Given the description of an element on the screen output the (x, y) to click on. 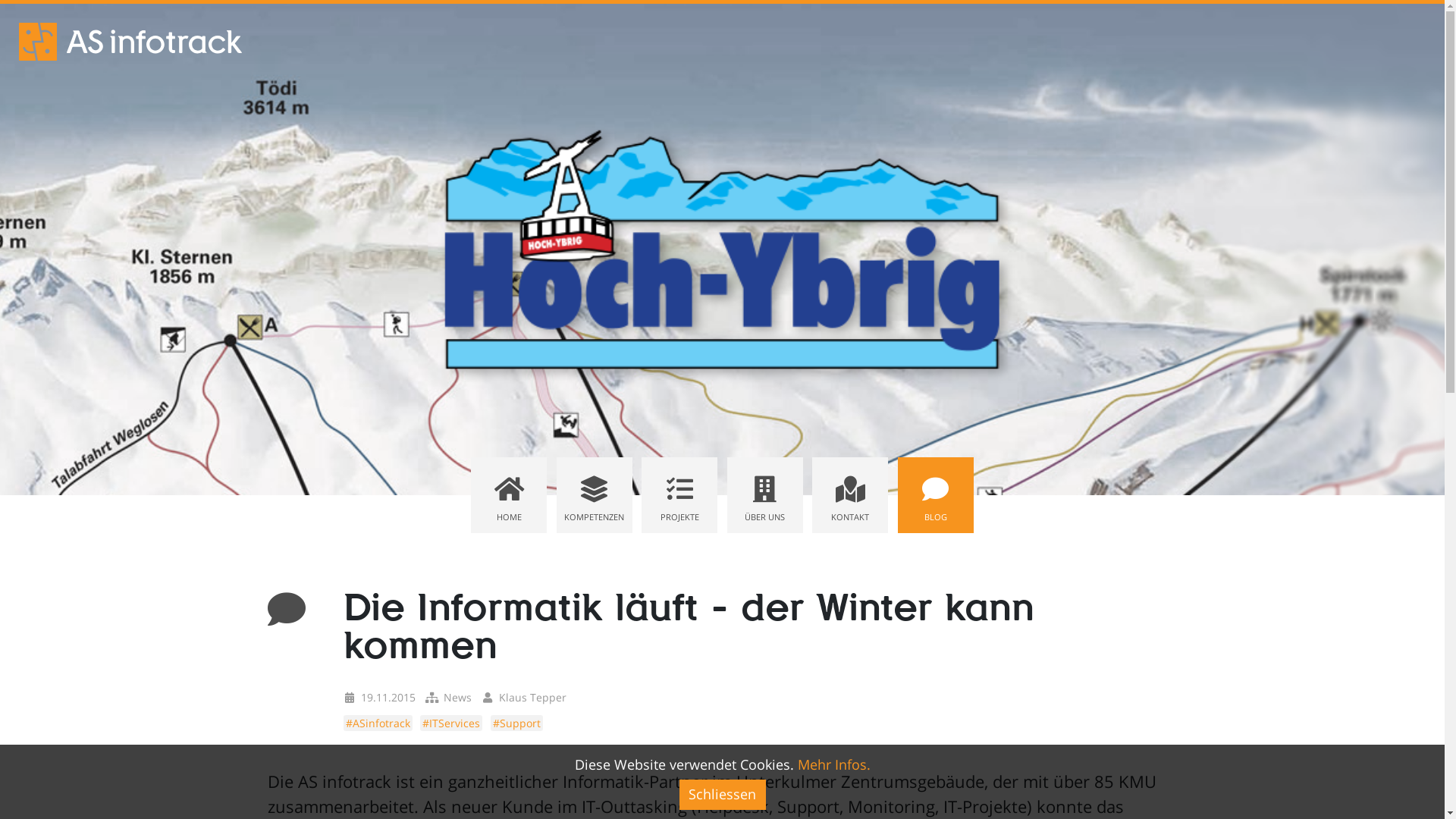
KONTAKT Element type: text (850, 495)
PROJEKTE Element type: text (679, 495)
KOMPETENZEN Element type: text (594, 495)
#ITServices Element type: text (451, 723)
Mehr Infos. Element type: text (833, 764)
BLOG Element type: text (935, 495)
#Support Element type: text (515, 723)
#ASinfotrack Element type: text (376, 723)
HOME Element type: text (508, 495)
Schliessen Element type: text (722, 794)
